Given the description of an element on the screen output the (x, y) to click on. 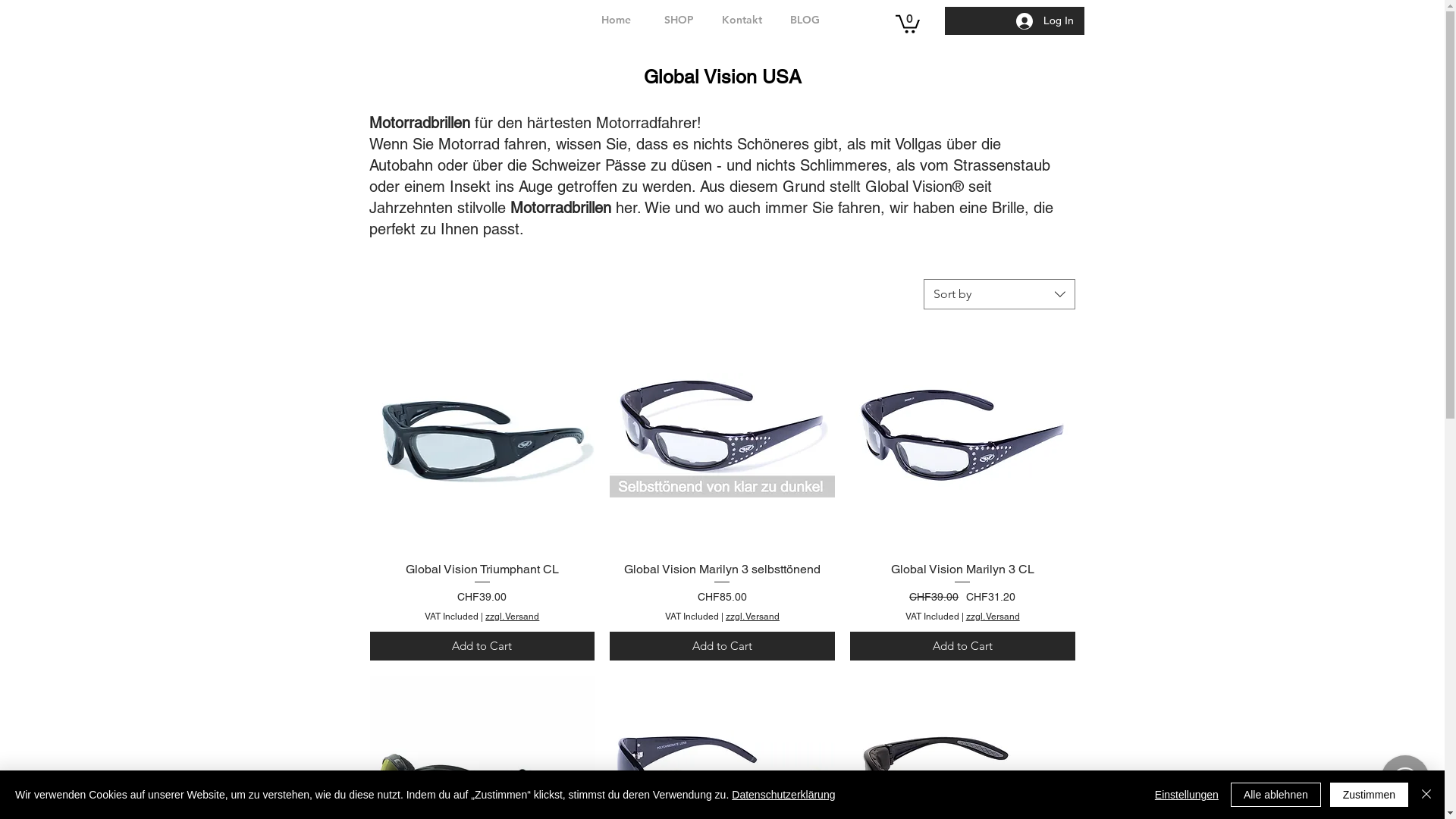
zzgl. Versand Element type: text (752, 616)
zzgl. Versand Element type: text (992, 616)
SHOP Element type: text (678, 19)
Sort by Element type: text (999, 294)
Log In Element type: text (1044, 20)
Kontakt Element type: text (740, 19)
Add to Cart Element type: text (721, 646)
0 Element type: text (906, 22)
Home Element type: text (614, 19)
Embedded Content Element type: hover (446, 20)
zzgl. Versand Element type: text (512, 616)
Embedded Content Element type: hover (233, 17)
Embedded Content Element type: hover (1163, 20)
Add to Cart Element type: text (962, 646)
Alle ablehnen Element type: text (1275, 794)
Add to Cart Element type: text (482, 646)
Zustimmen Element type: text (1369, 794)
BLOG Element type: text (804, 19)
